Given the description of an element on the screen output the (x, y) to click on. 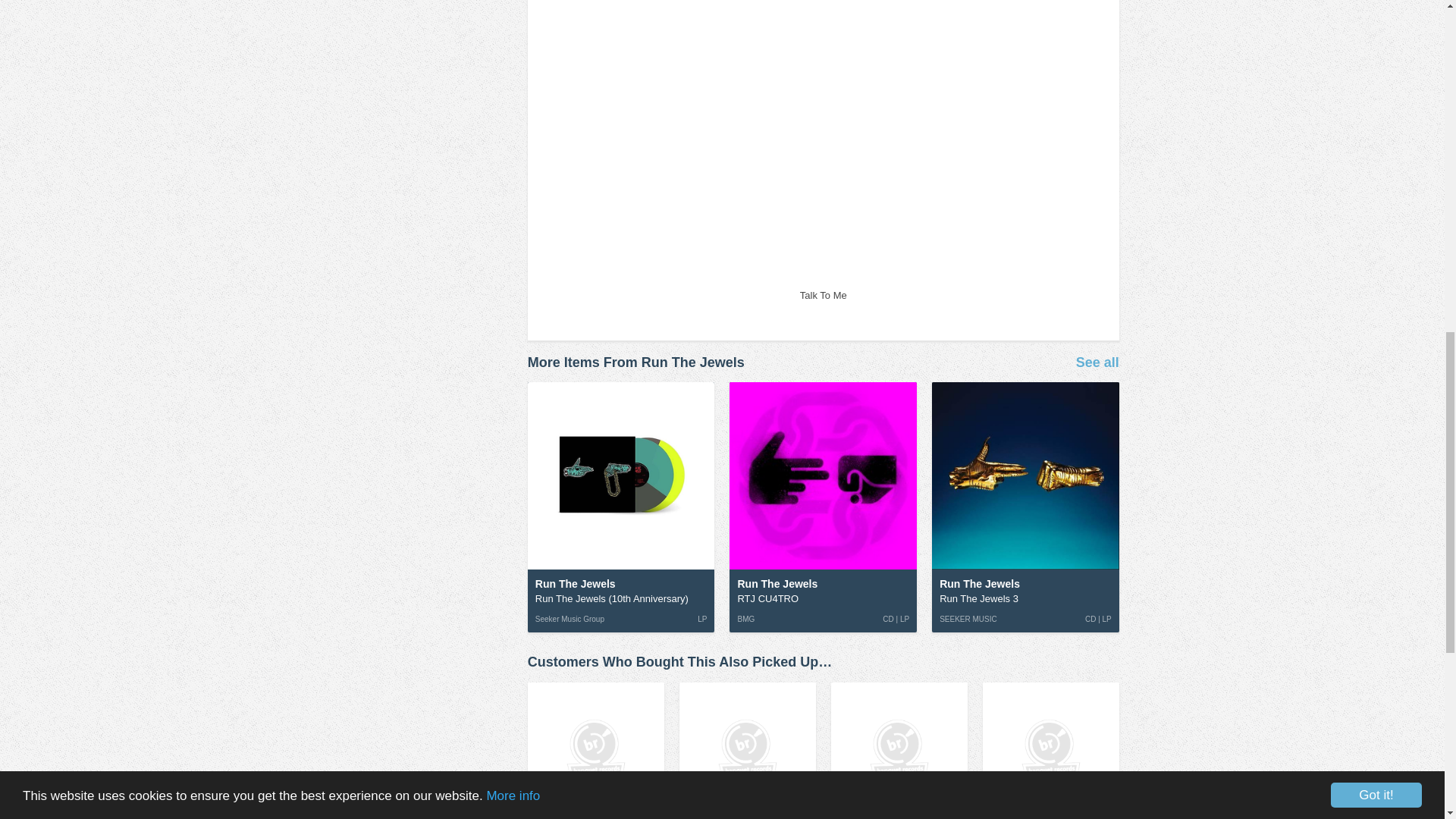
See all (1097, 363)
Kendrick Lamar - Section 80 (1050, 750)
The XX - I See You (1050, 750)
Bonobo - Migration (747, 750)
